Given the description of an element on the screen output the (x, y) to click on. 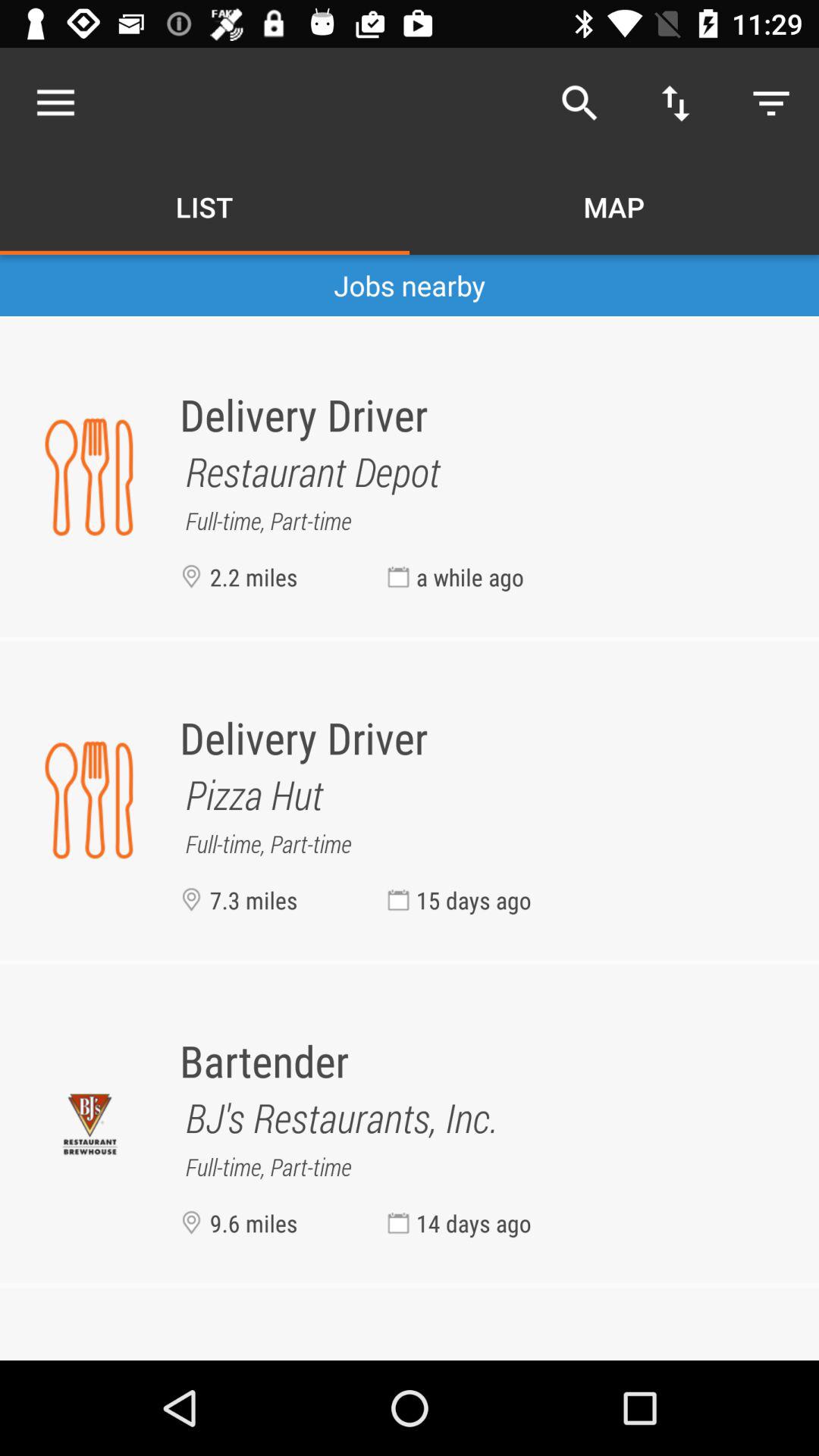
click on the button which is at top right corner of the page (771, 103)
click on the symbol left to bartender (89, 1123)
